Given the description of an element on the screen output the (x, y) to click on. 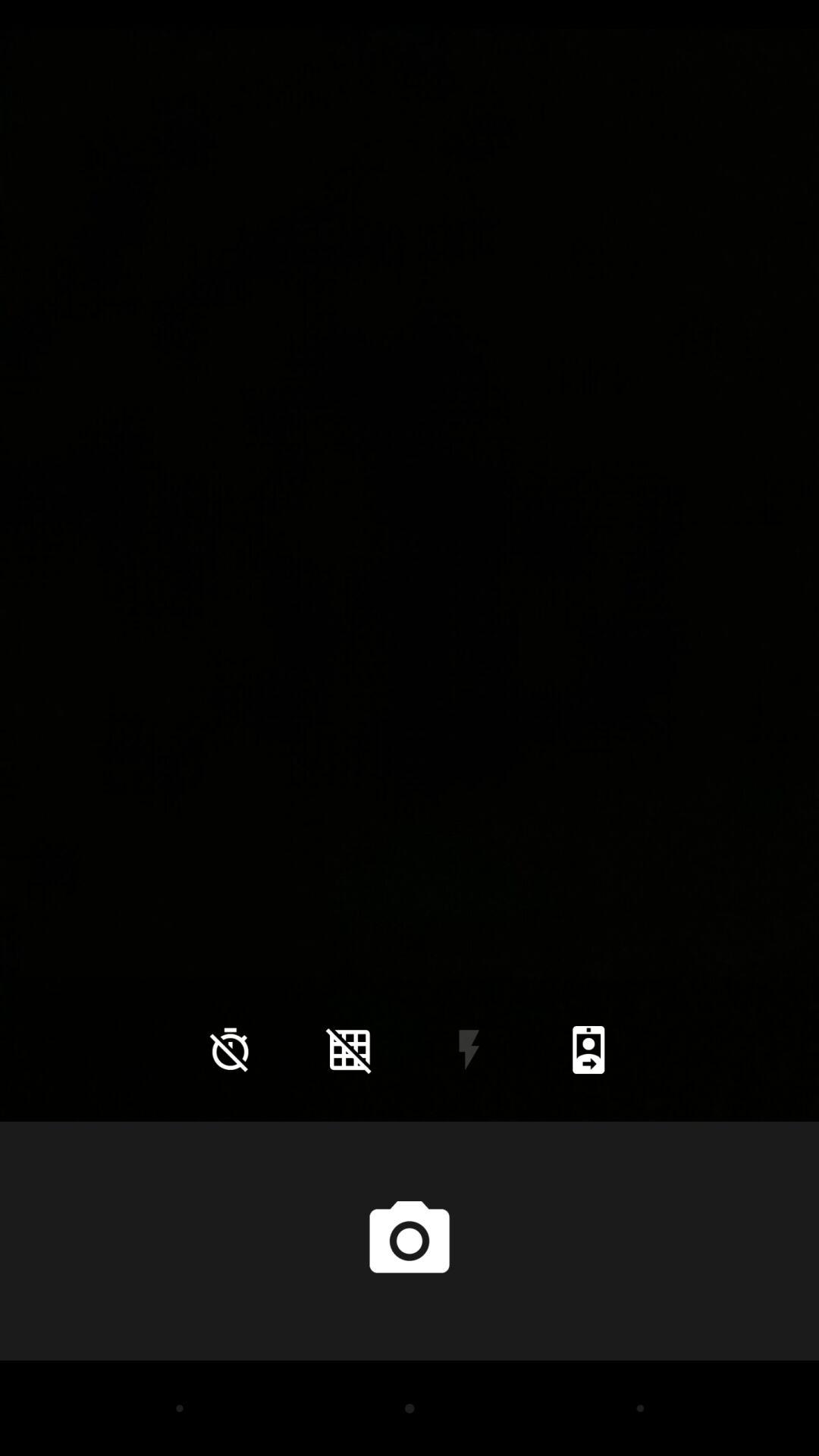
press the icon at the bottom right corner (588, 1049)
